Given the description of an element on the screen output the (x, y) to click on. 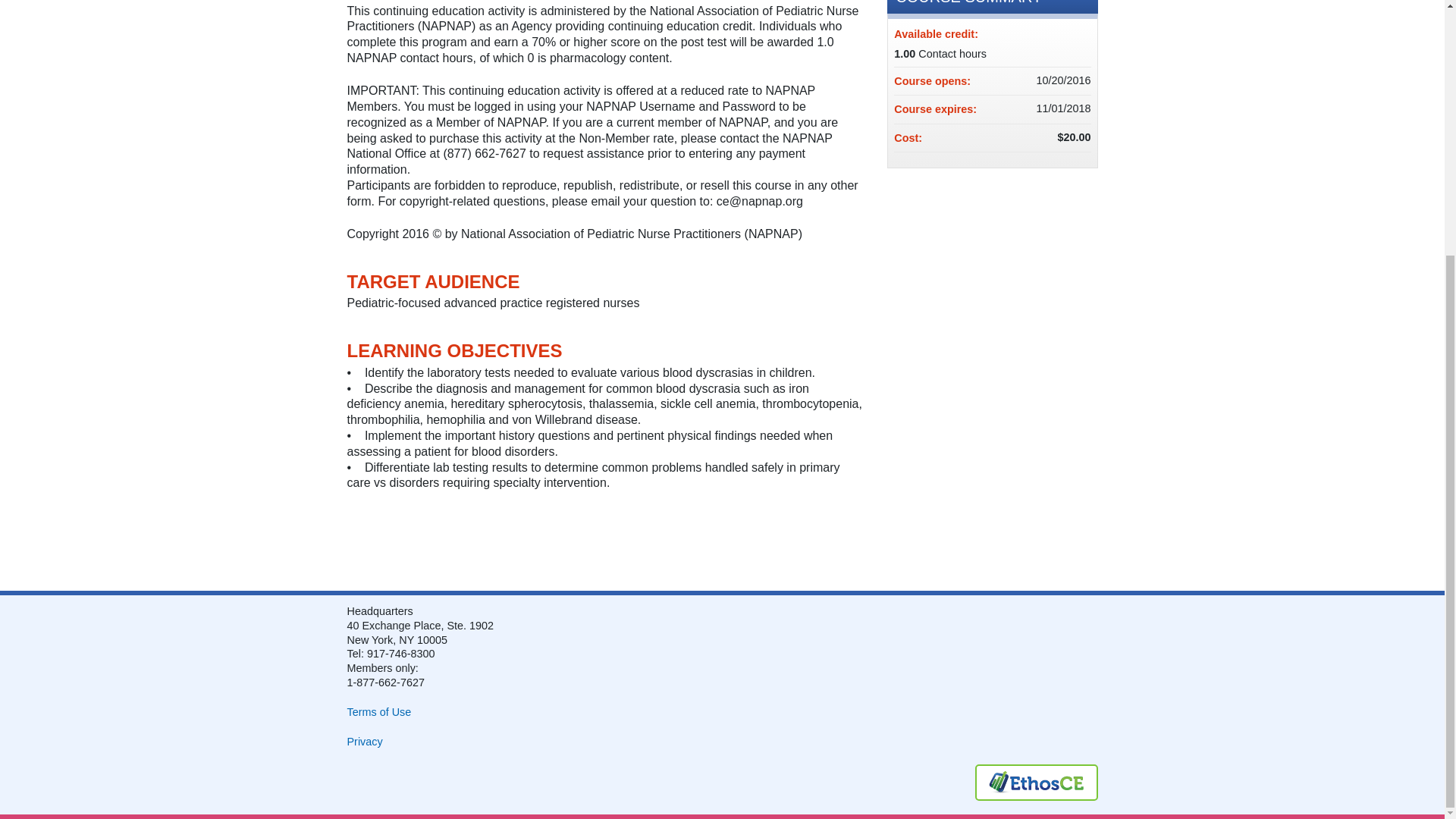
Terms of Use (379, 711)
Privacy (364, 741)
